Given the description of an element on the screen output the (x, y) to click on. 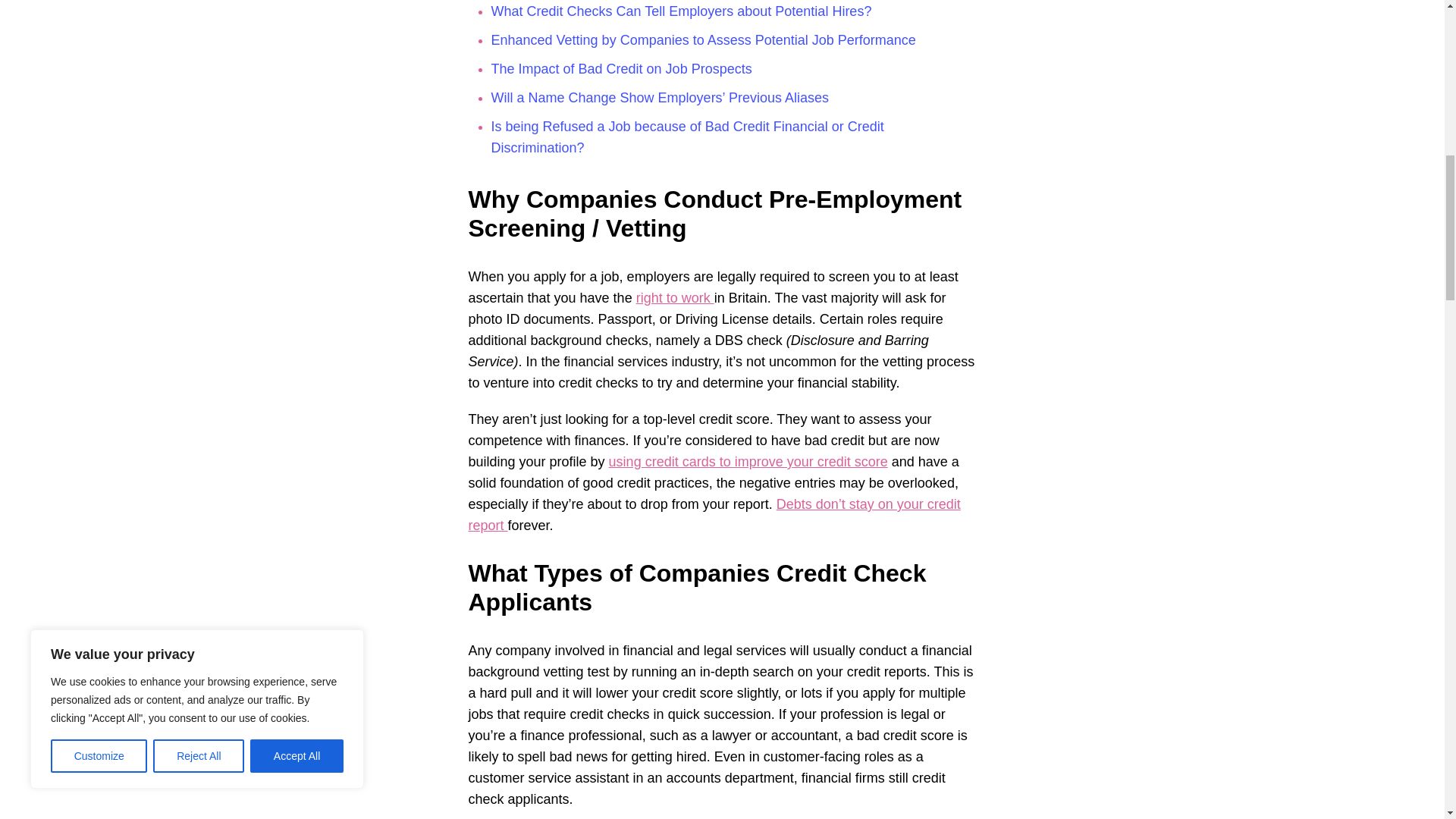
using credit cards to improve your credit score (748, 461)
What Credit Checks Can Tell Employers about Potential Hires? (682, 11)
The Impact of Bad Credit on Job Prospects (622, 68)
right to work (675, 297)
